Given the description of an element on the screen output the (x, y) to click on. 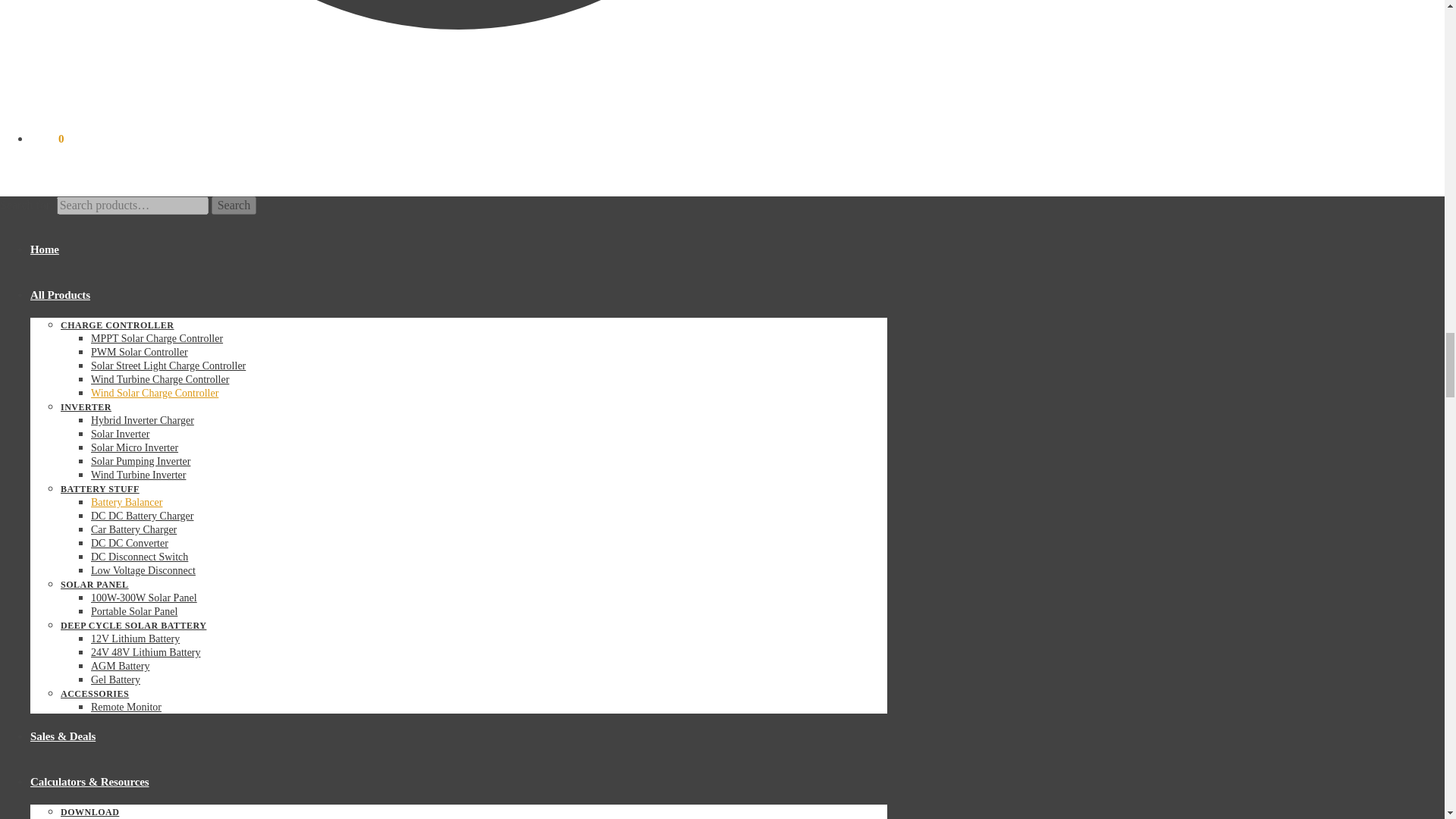
Wind Turbine Charge Controller (159, 378)
Wind Turbine Inverter (138, 474)
Checkout (458, 52)
DC Disconnect Switch (138, 556)
12V Lithium Battery (134, 638)
Gel Battery (114, 679)
Solar Inverter (119, 433)
Wind Solar Charge Controller (154, 392)
24V 48V Lithium Battery (145, 652)
Solar Street Light Charge Controller (168, 365)
MPPT Solar Charge Controller (156, 337)
Search (234, 205)
Hybrid Inverter Charger (141, 419)
100W-300W Solar Panel (143, 597)
Home (44, 249)
